Given the description of an element on the screen output the (x, y) to click on. 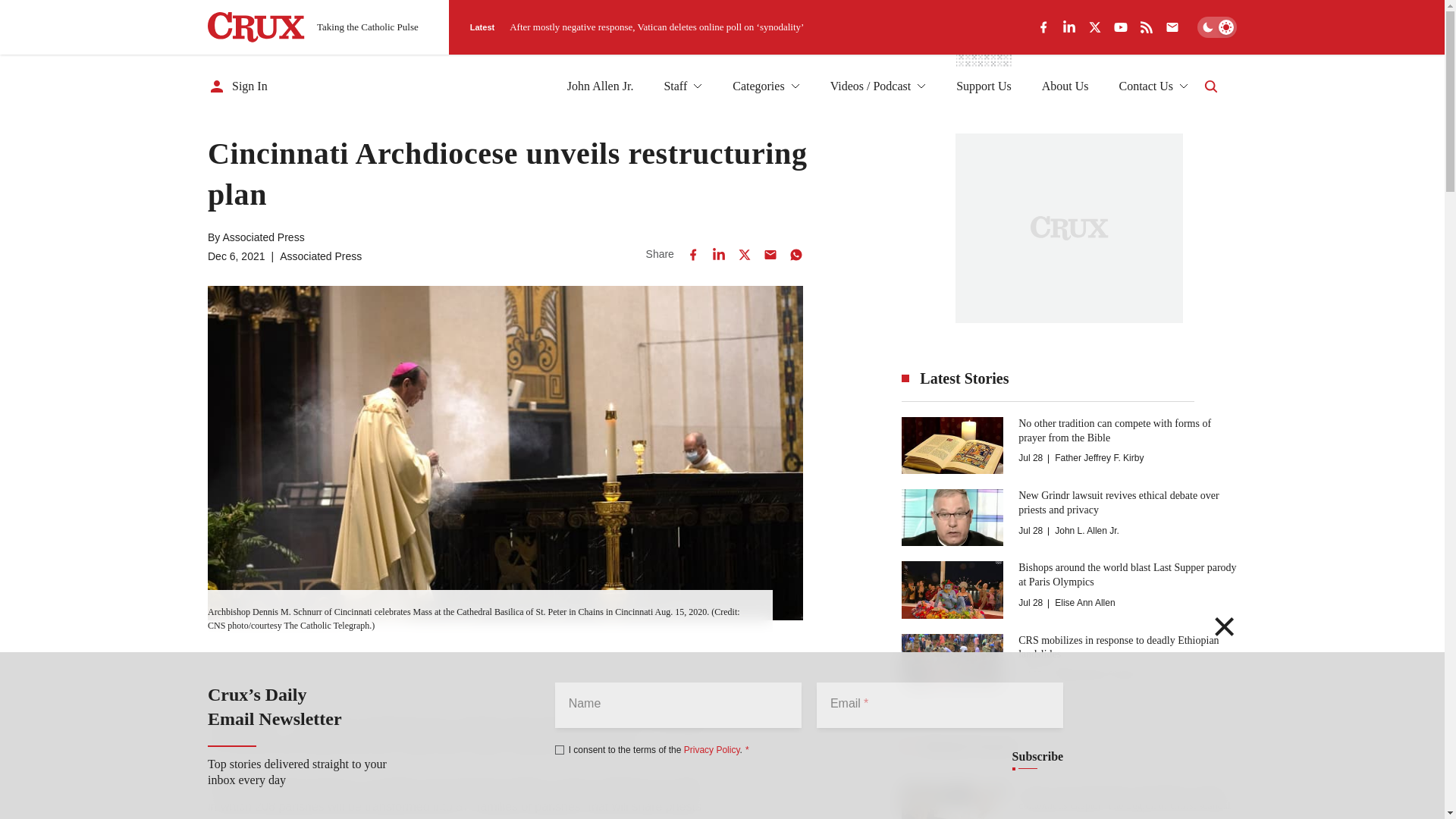
Subscribe (1037, 756)
Staff (682, 85)
true (559, 749)
Support Us (983, 85)
Sign In (237, 85)
John Allen Jr. (600, 85)
Categories (765, 85)
Privacy Policy (711, 749)
